Given the description of an element on the screen output the (x, y) to click on. 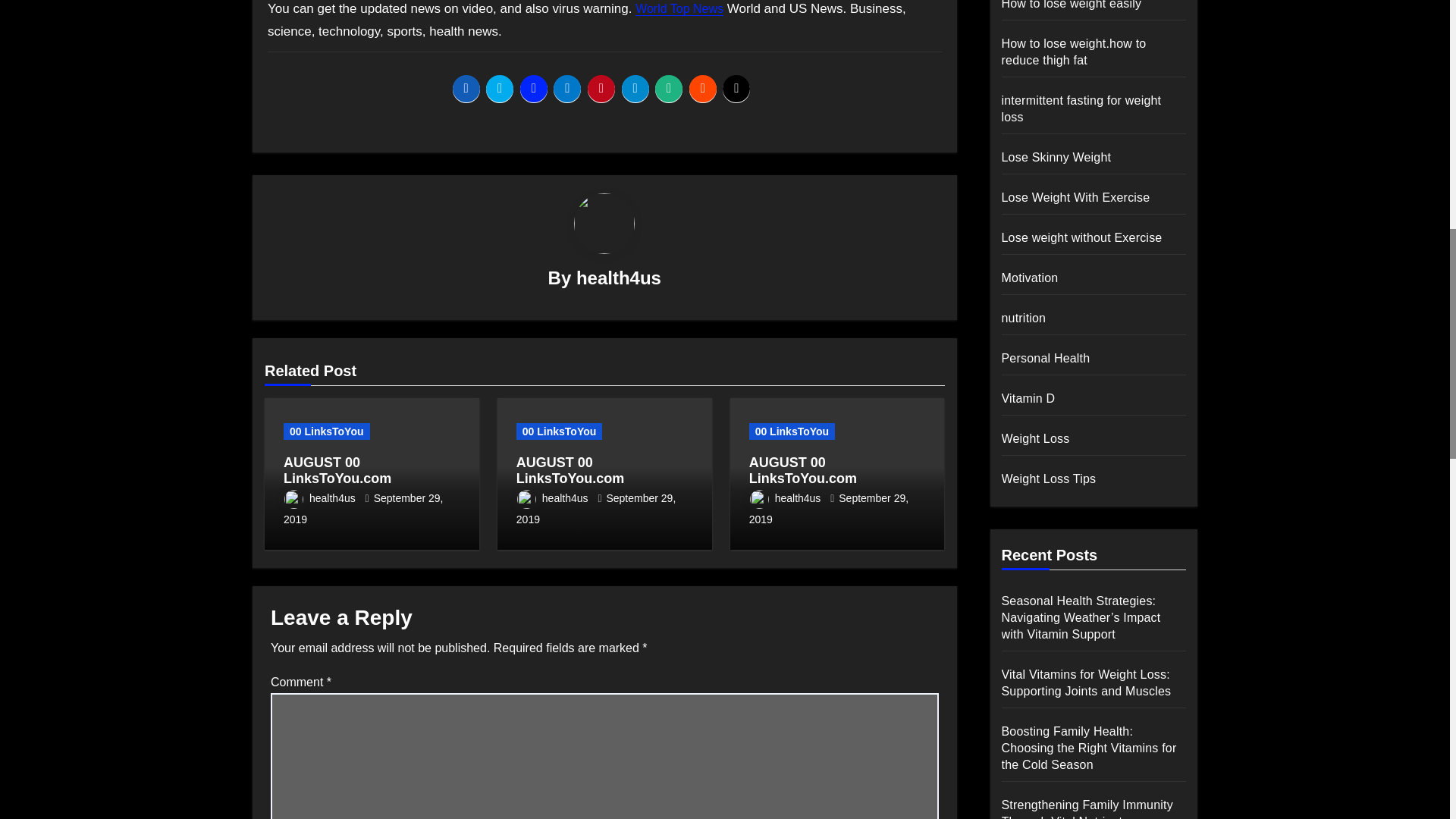
World Top News (678, 8)
Permalink to: AUGUST 00 LinksToYou.com (570, 470)
Permalink to: AUGUST 00 LinksToYou.com (337, 470)
Permalink to: AUGUST 00 LinksToYou.com (803, 470)
